Given the description of an element on the screen output the (x, y) to click on. 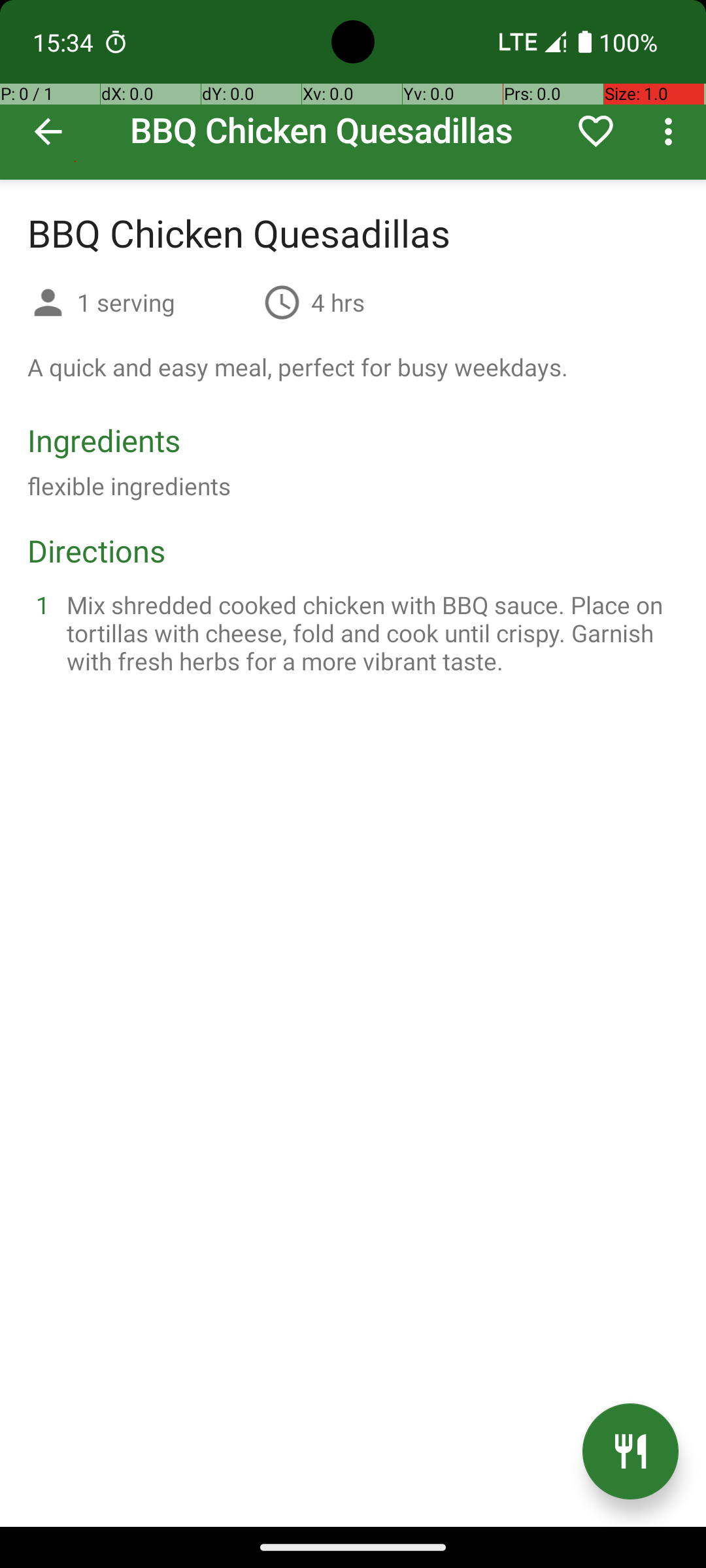
Mix shredded cooked chicken with BBQ sauce. Place on tortillas with cheese, fold and cook until crispy. Garnish with fresh herbs for a more vibrant taste. Element type: android.widget.TextView (368, 632)
